Given the description of an element on the screen output the (x, y) to click on. 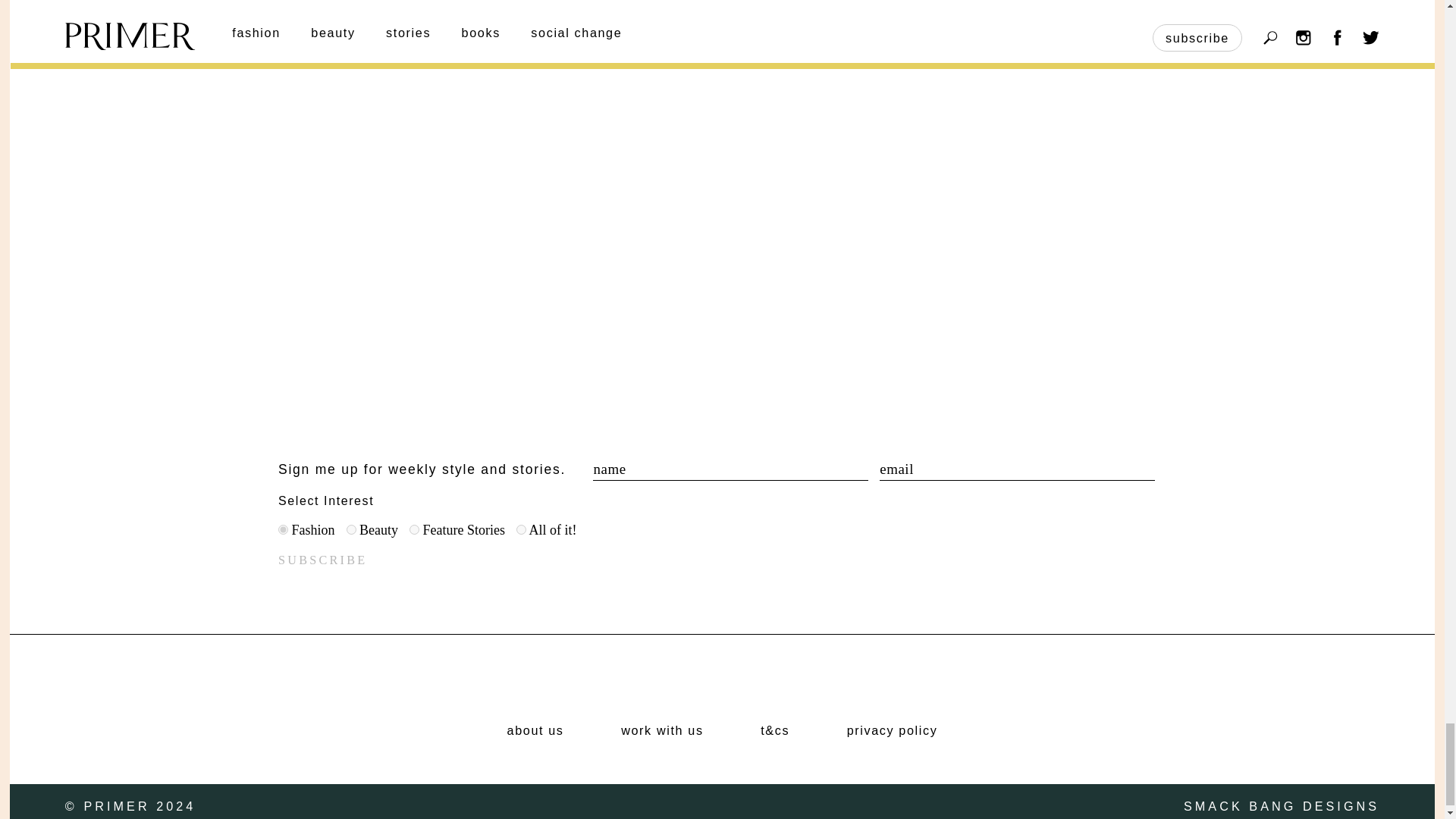
Fashion (283, 529)
All of it! (520, 529)
Subscribe (322, 560)
Feature Stories (414, 529)
Beauty (350, 529)
